Given the description of an element on the screen output the (x, y) to click on. 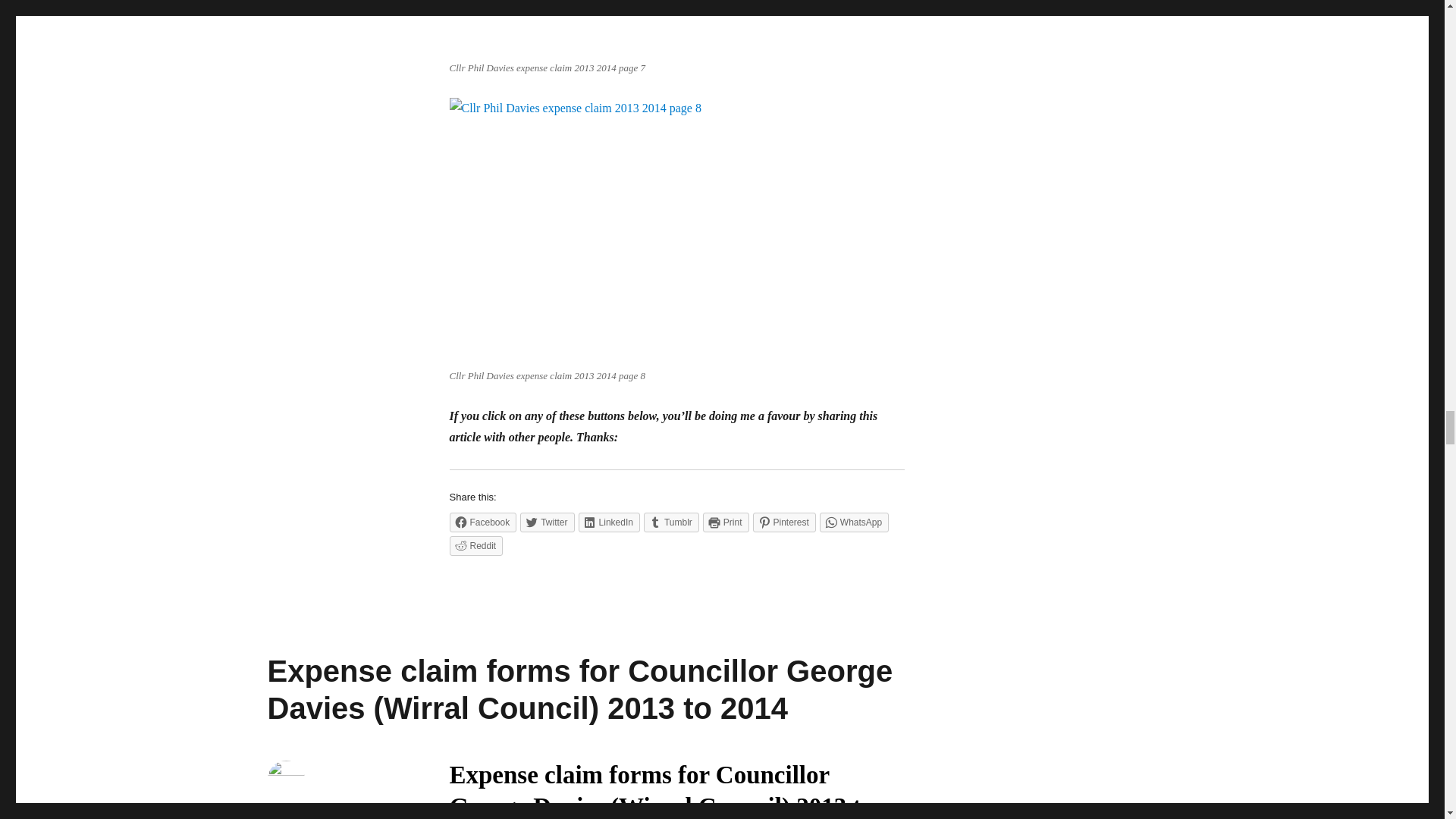
Click to share on Twitter (546, 522)
Click to share on LinkedIn (609, 522)
Click to print (726, 522)
Click to share on Tumblr (670, 522)
Click to share on Pinterest (783, 522)
Click to share on WhatsApp (853, 522)
Click to share on Facebook (482, 522)
